Given the description of an element on the screen output the (x, y) to click on. 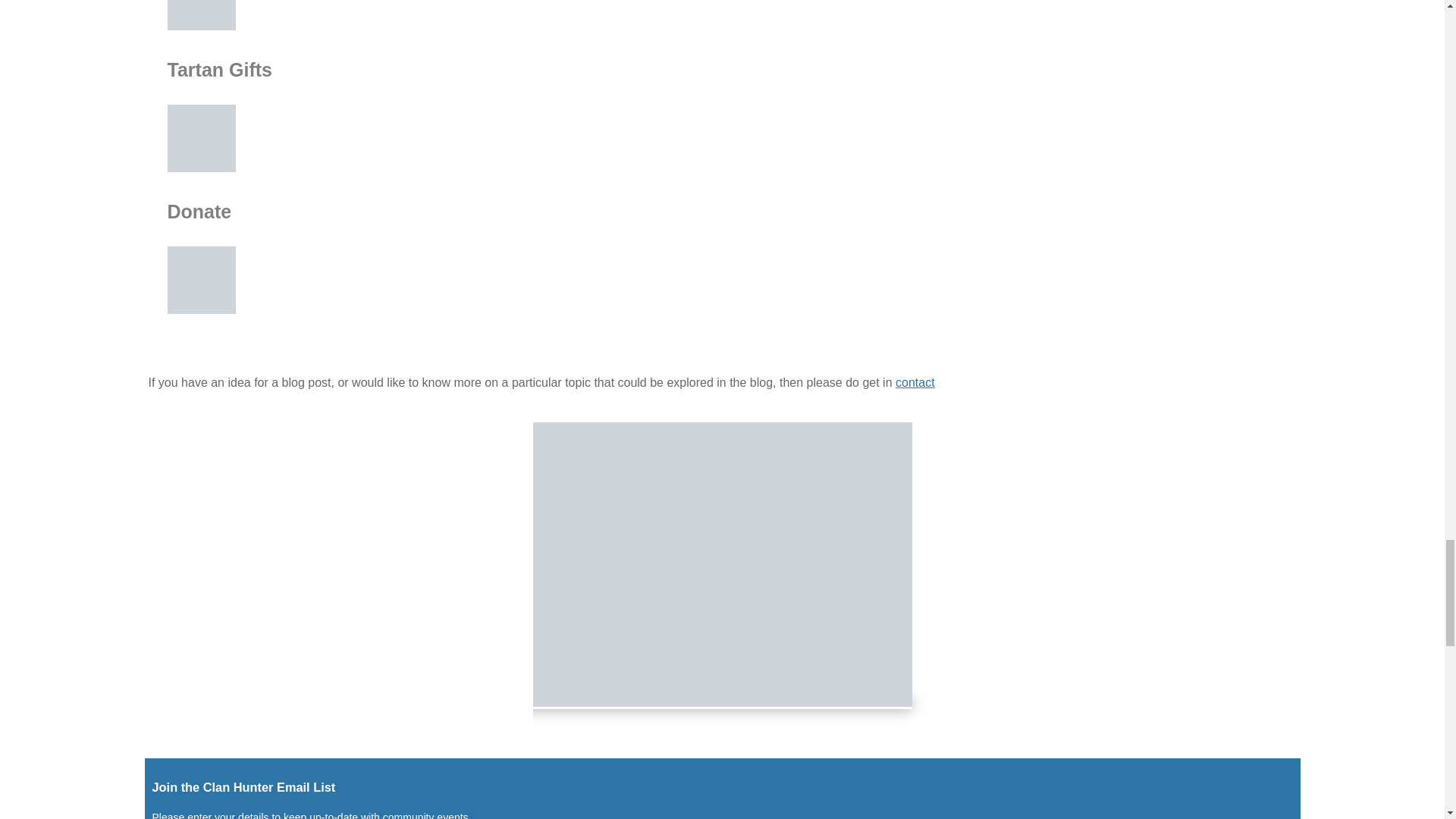
Link to contact Clan Hunter (914, 382)
donate (721, 564)
Donate (201, 279)
Join Us (201, 15)
Tartan Gifts (201, 137)
